Given the description of an element on the screen output the (x, y) to click on. 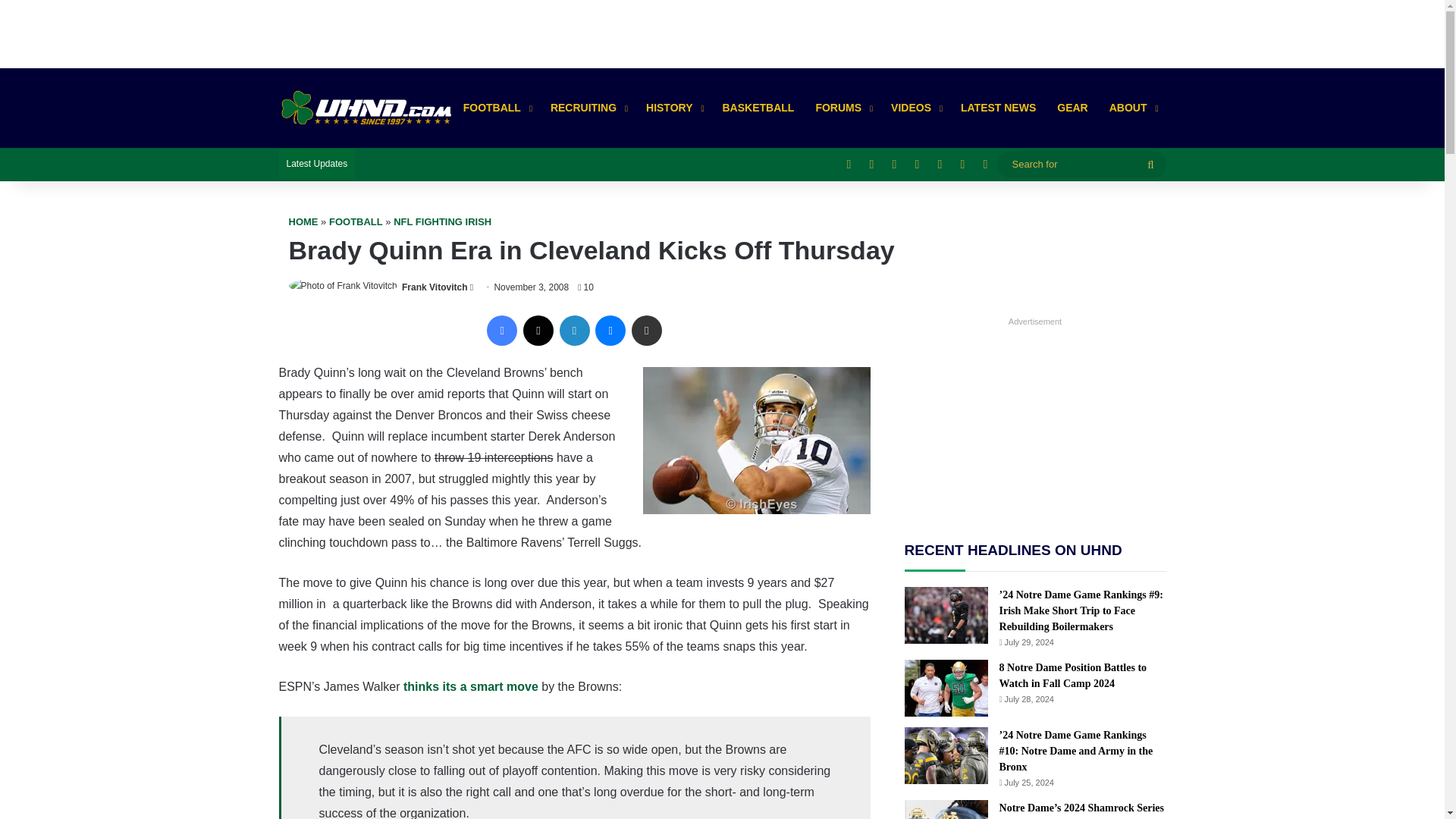
Brady Quinn Era in Cleveland Kicks Off Thursday 1 (756, 440)
LinkedIn (574, 330)
BASKETBALL (758, 107)
FOOTBALL (496, 107)
Facebook (501, 330)
Messenger (610, 330)
RECRUITING (587, 107)
X (537, 330)
Share via Email (646, 330)
HISTORY (672, 107)
Search for (1080, 163)
FORUMS (842, 107)
Frank Vitovitch (434, 286)
